Given the description of an element on the screen output the (x, y) to click on. 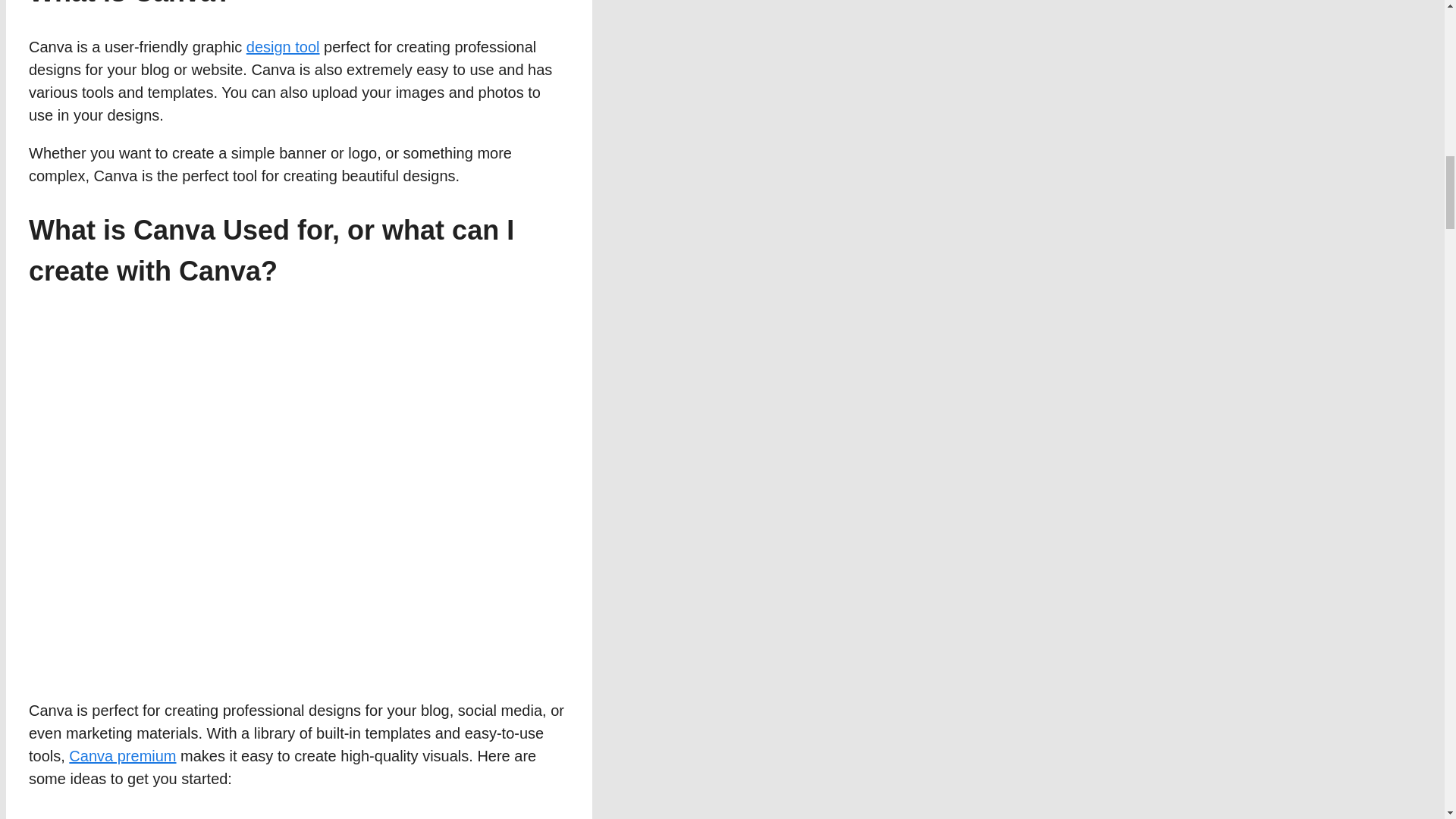
Canva premium (122, 755)
design tool (283, 46)
